Given the description of an element on the screen output the (x, y) to click on. 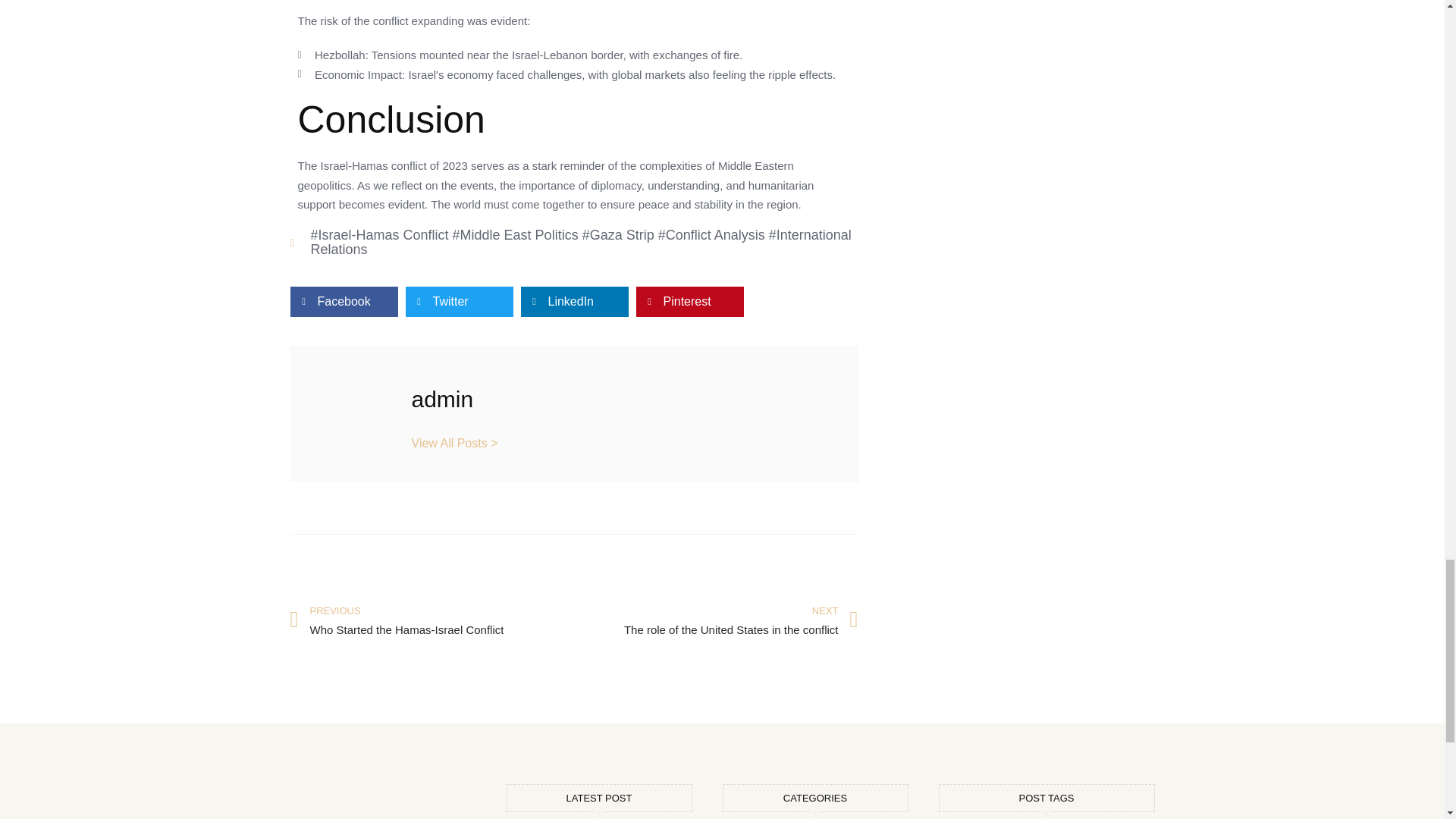
admin (431, 620)
